Given the description of an element on the screen output the (x, y) to click on. 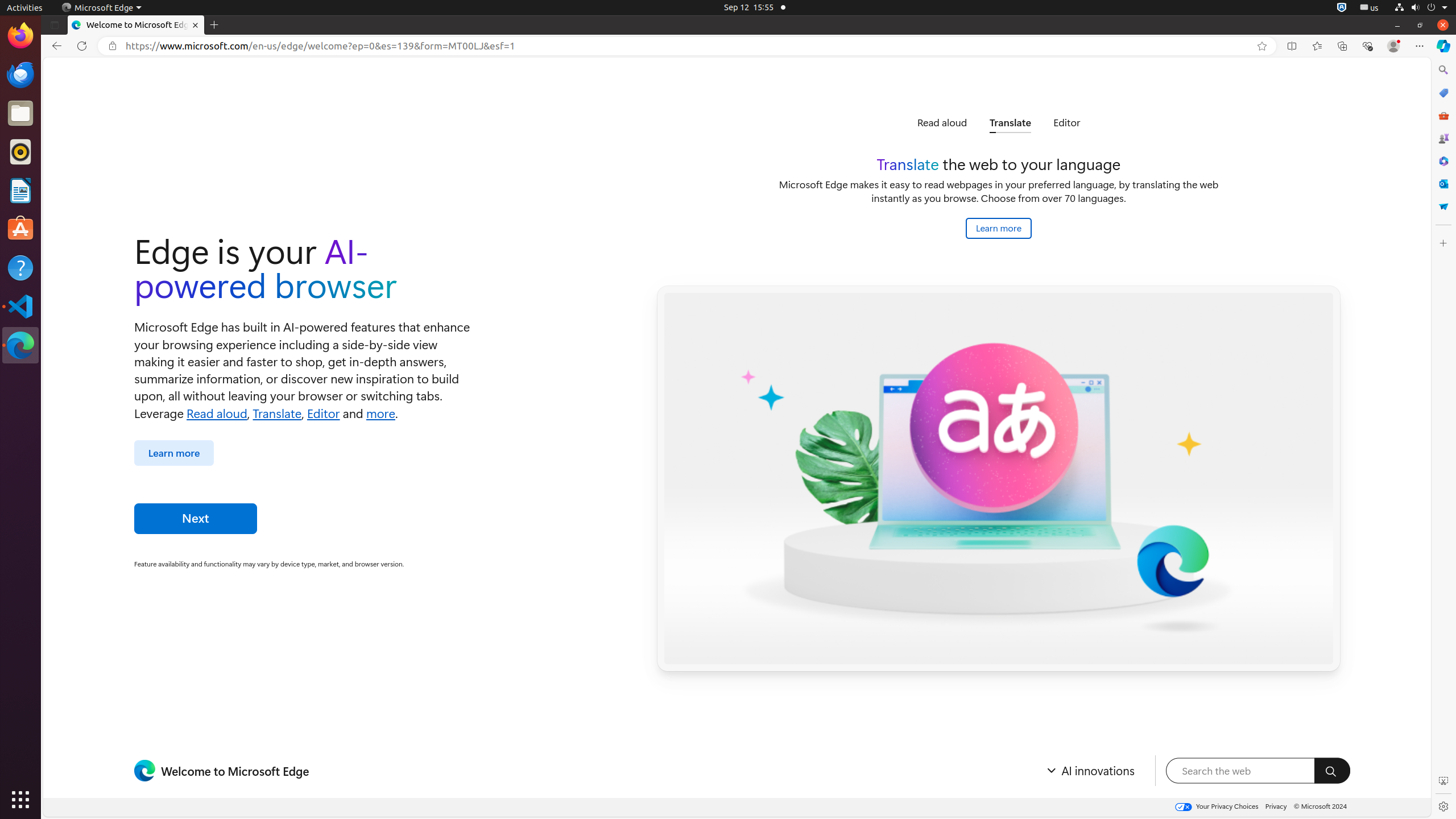
Files Element type: push-button (20, 113)
Split screen Element type: push-button (1291, 45)
Copilot (Ctrl+Shift+.) Element type: push-button (1443, 45)
Tab actions menu Element type: push-button (54, 24)
Thunderbird Mail Element type: push-button (20, 74)
